Given the description of an element on the screen output the (x, y) to click on. 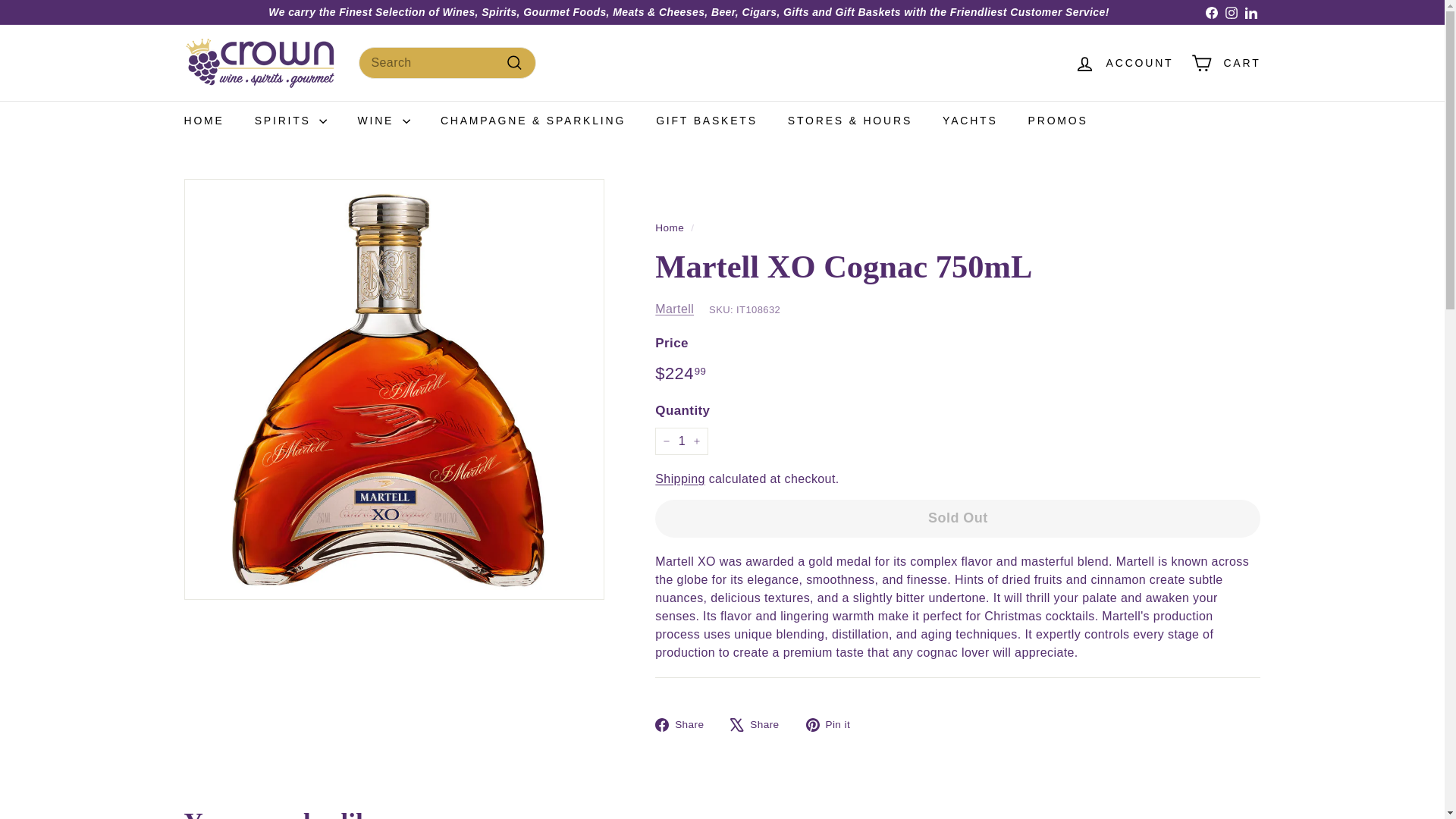
GIFT BASKETS (706, 120)
Search (514, 62)
1 (681, 441)
Share on Facebook (684, 724)
CART (1225, 62)
HOME (203, 120)
ACCOUNT (1123, 62)
Back to the frontpage (669, 227)
Pin on Pinterest (833, 724)
Tweet on X (760, 724)
